Given the description of an element on the screen output the (x, y) to click on. 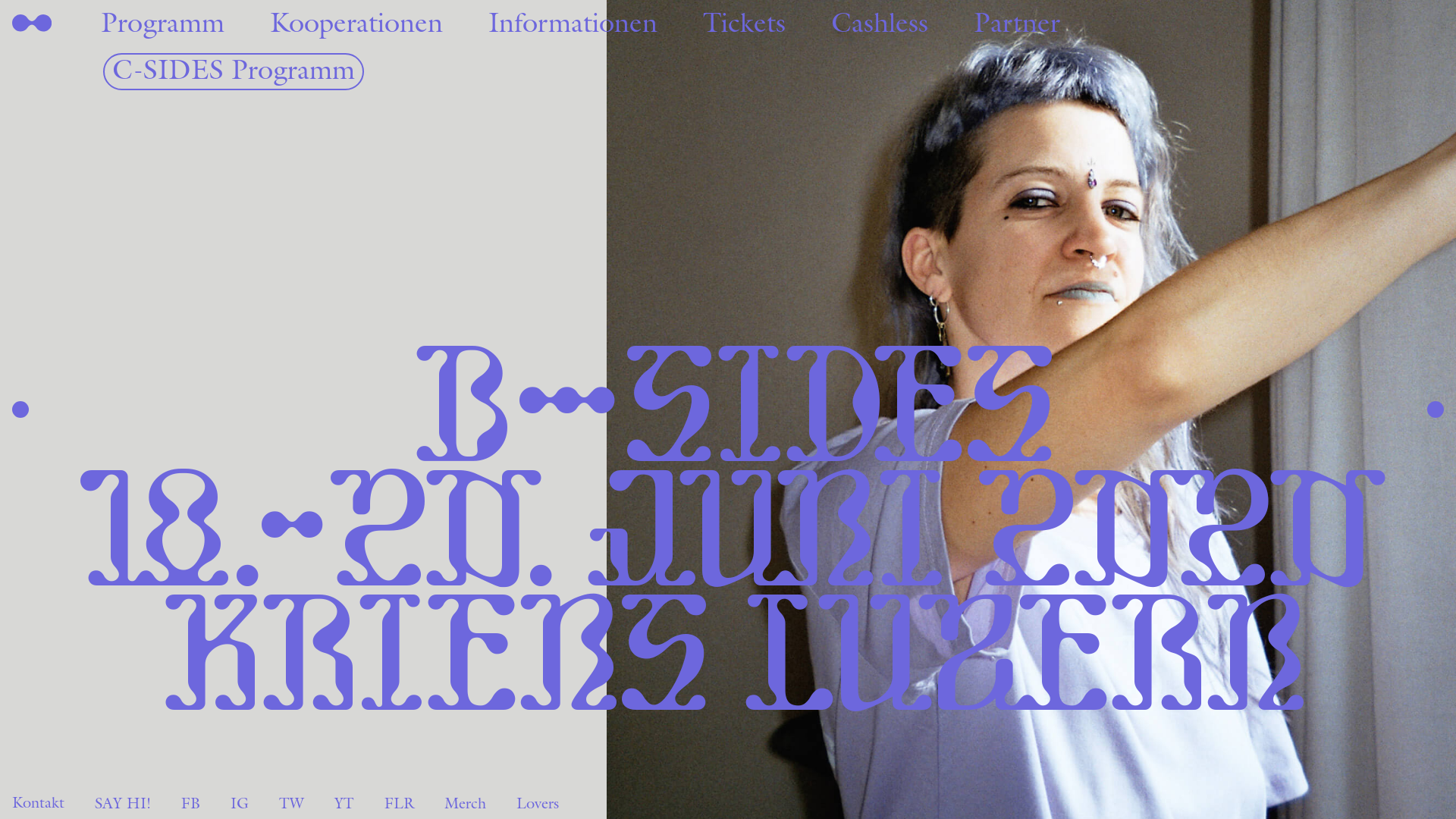
YT Element type: text (344, 802)
SAY HI! Element type: text (122, 802)
TW Element type: text (291, 802)
FLR Element type: text (399, 802)
Lovers Element type: text (537, 802)
FB Element type: text (190, 802)
Cashless Element type: text (879, 23)
IG Element type: text (239, 802)
Informationen Element type: text (572, 23)
Merch Element type: text (465, 802)
Programm Element type: text (162, 23)
Kooperationen Element type: text (355, 23)
Kontakt Element type: text (38, 802)
Tickets Element type: text (743, 23)
Partner Element type: text (1016, 23)
C-SIDES Programm Element type: text (233, 71)
